Given the description of an element on the screen output the (x, y) to click on. 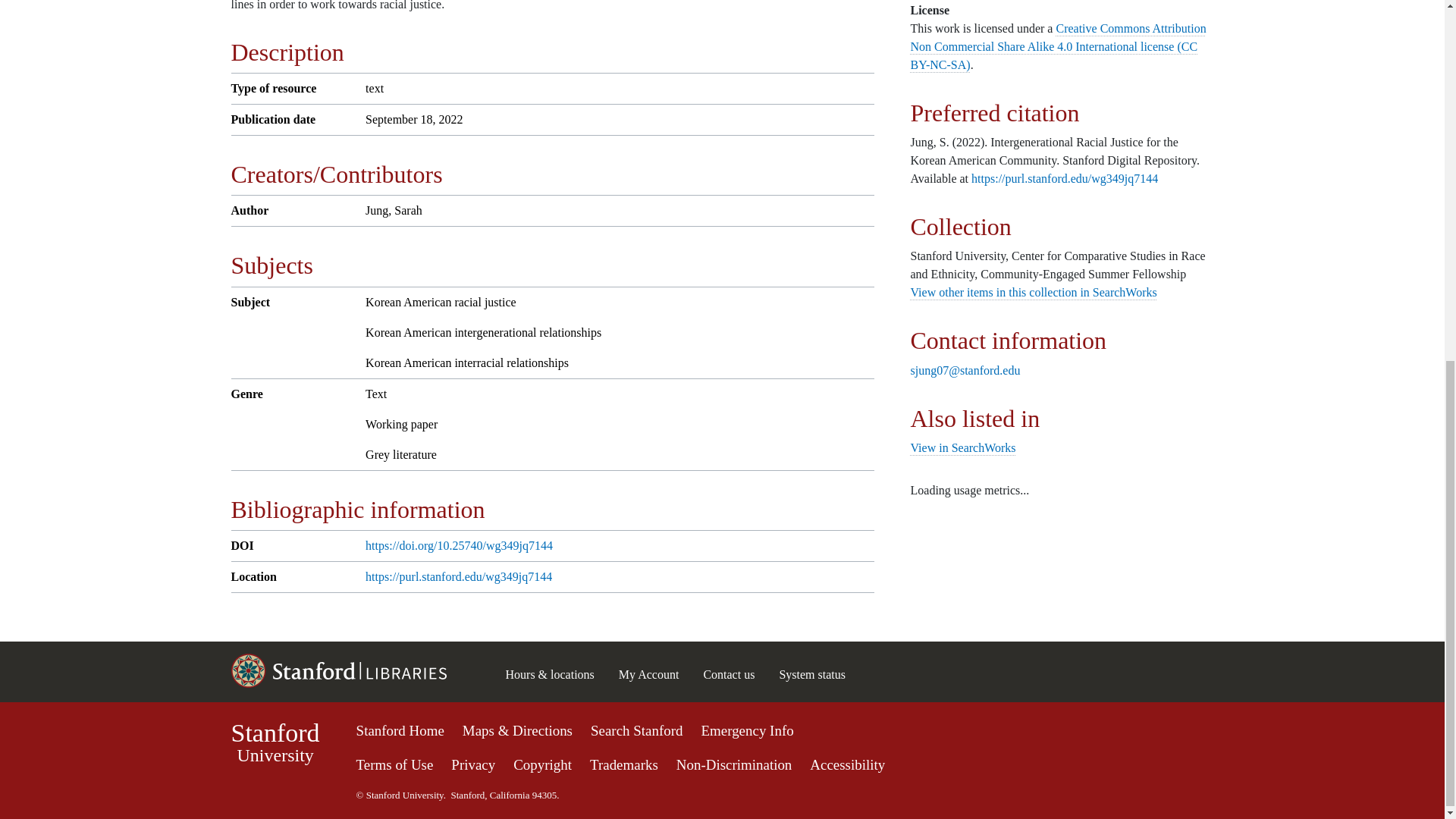
Non-discrimination policy (734, 764)
Terms of use for sites (394, 764)
Report alleged copyright infringement (542, 764)
Privacy and cookie policy (473, 764)
System status (811, 674)
View other items in this collection in SearchWorks (274, 742)
Common Stanford resources (1033, 291)
Ownership and use of Stanford trademarks and images (722, 761)
Contact us (623, 764)
View in SearchWorks (728, 674)
Report web accessibility issues (962, 447)
My Account (847, 764)
